Given the description of an element on the screen output the (x, y) to click on. 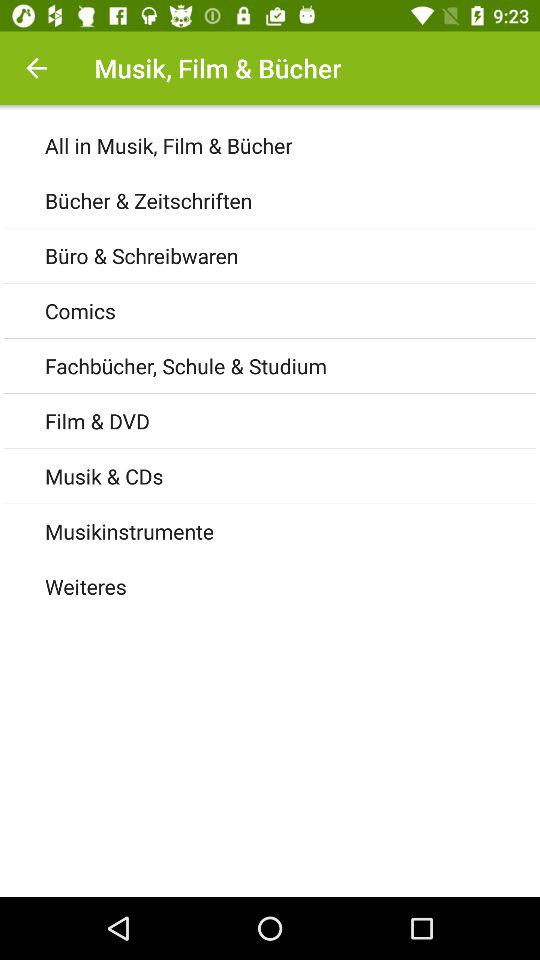
turn on the icon above the film & dvd item (292, 365)
